Given the description of an element on the screen output the (x, y) to click on. 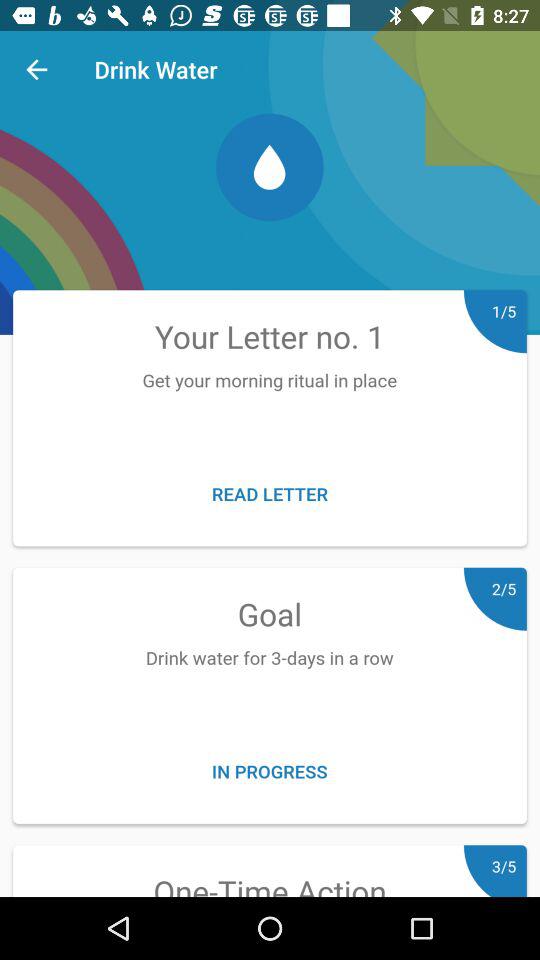
turn off the item above the one-time action (269, 770)
